Given the description of an element on the screen output the (x, y) to click on. 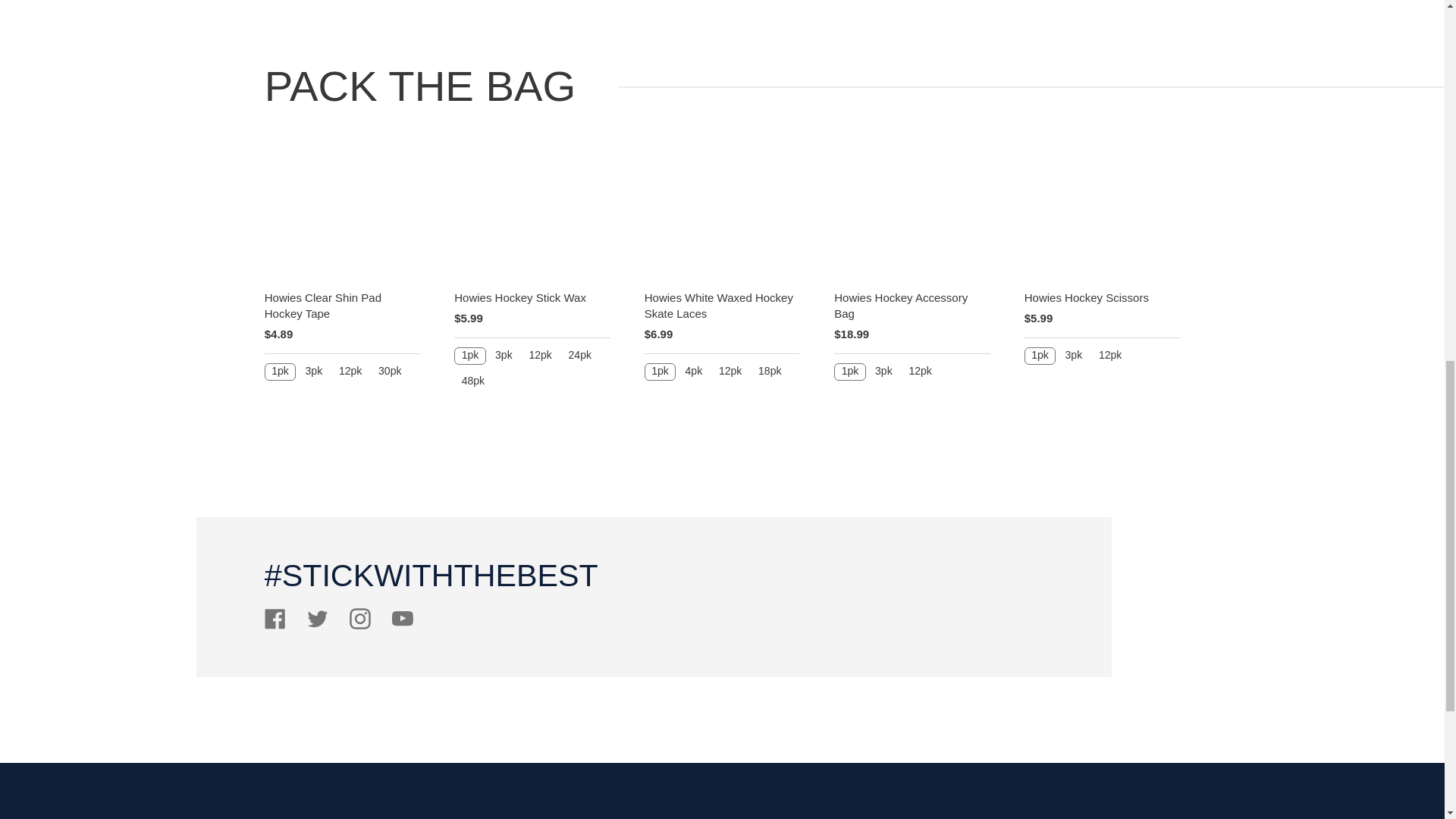
Howies Hockey Tape on Twitter (318, 625)
Howies Hockey Tape on Instagram (360, 625)
Howies Hockey Tape on Facebook (274, 625)
Howies Hockey Tape on YouTube (402, 625)
